Given the description of an element on the screen output the (x, y) to click on. 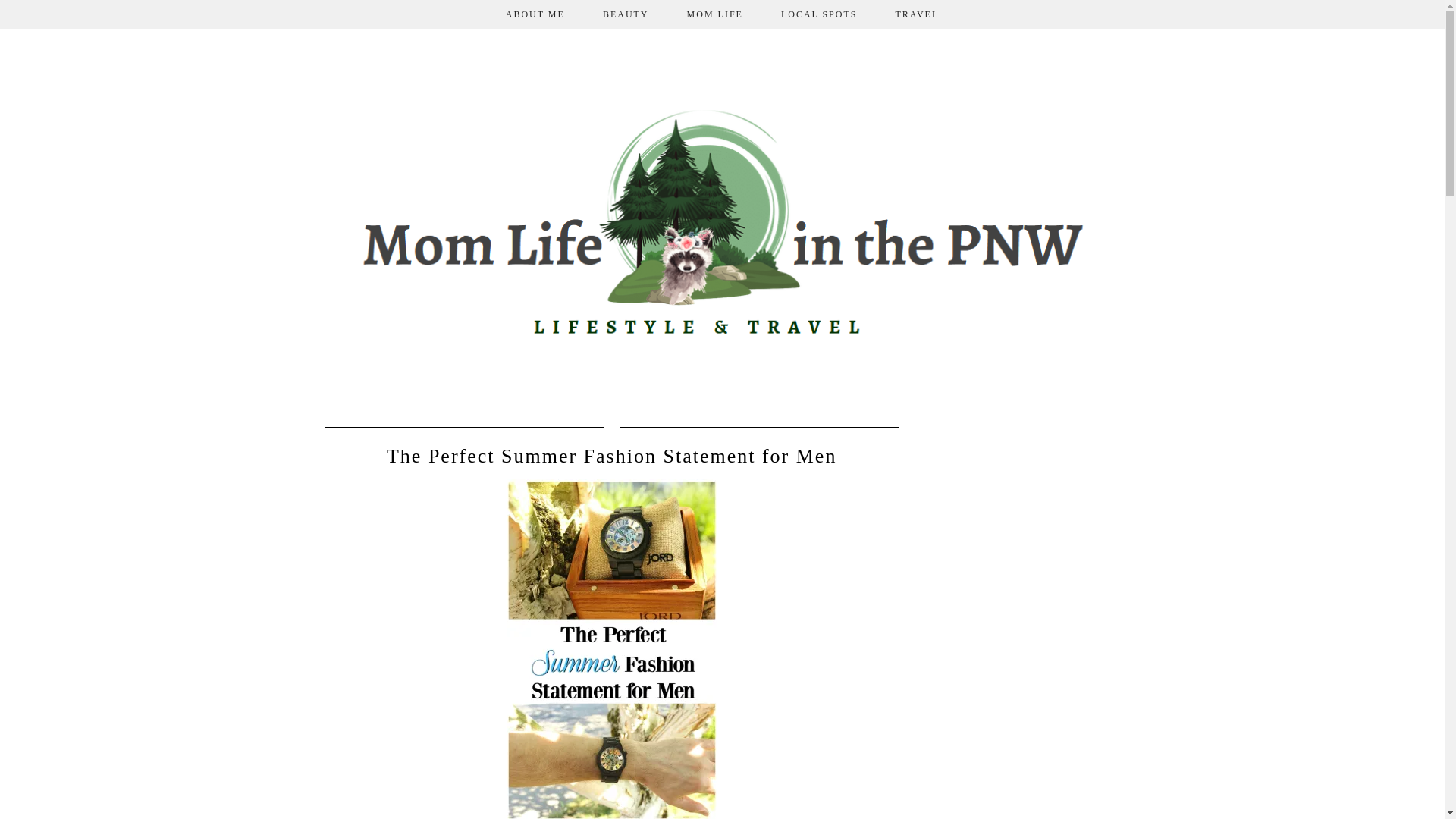
TRAVEL (917, 14)
ABOUT ME (534, 14)
MOM LIFE (714, 14)
LOCAL SPOTS (818, 14)
BEAUTY (625, 14)
